Given the description of an element on the screen output the (x, y) to click on. 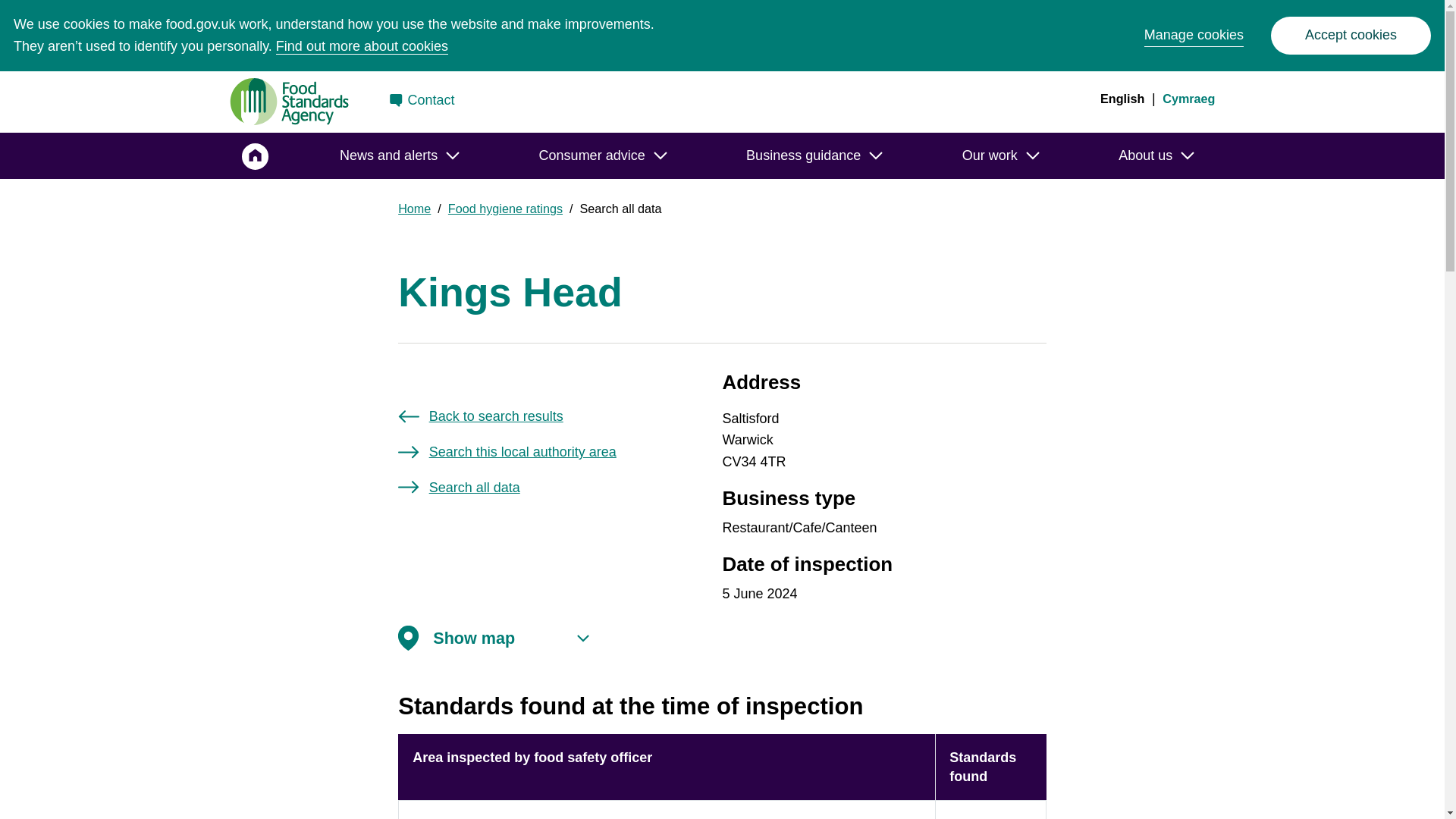
Cymraeg (1187, 98)
Food Standards Agency - Frontpage (288, 101)
Consumer advice (602, 155)
Business guidance (813, 155)
Contact (422, 101)
Accept cookies (1351, 35)
About us (1155, 155)
Our work (1000, 155)
News and alerts (399, 155)
Manage cookies (1193, 35)
News and alerts (399, 155)
Find out more about cookies (362, 46)
Consumer advice (602, 155)
English (1122, 98)
